Given the description of an element on the screen output the (x, y) to click on. 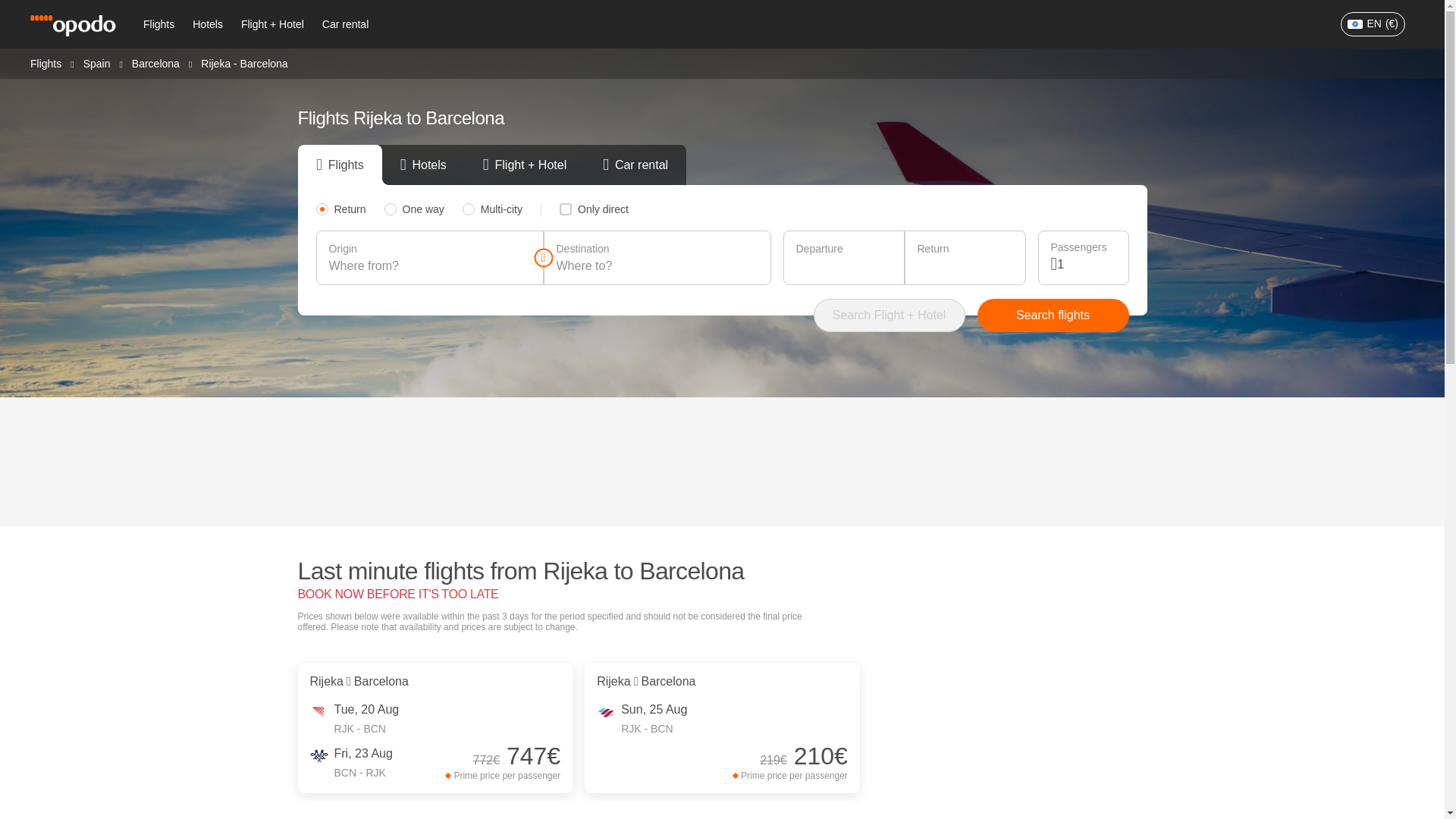
3rd party ad content (722, 461)
Car rental (345, 24)
Flights (45, 62)
Hotels (207, 24)
Search flights (1052, 315)
Rijeka - Barcelona (243, 63)
Barcelona (155, 62)
Spain (96, 62)
Flights (158, 24)
1 (1086, 263)
